Given the description of an element on the screen output the (x, y) to click on. 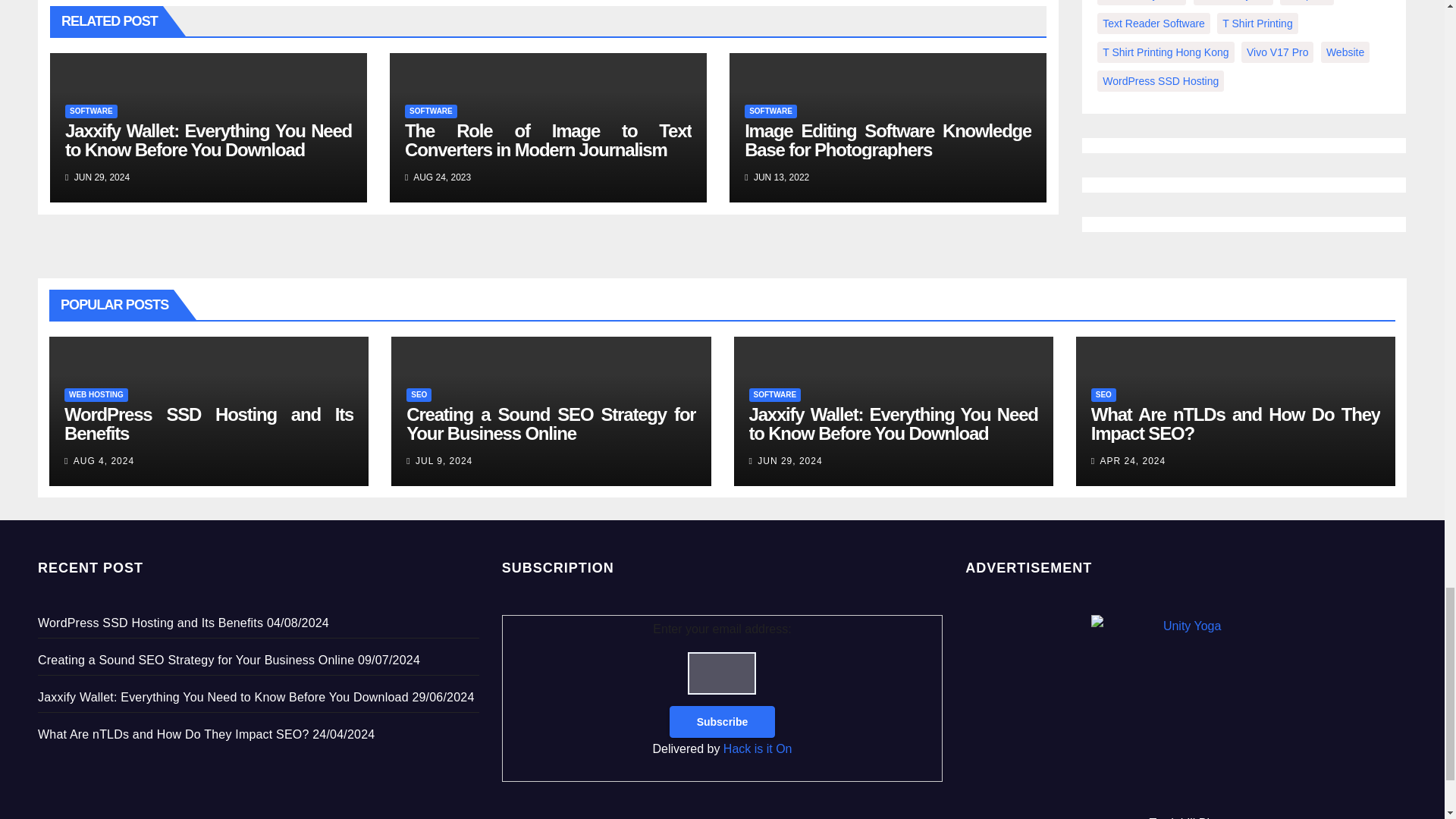
The Role of Image to Text Converters in Modern Journalism (547, 139)
SOFTWARE (430, 110)
Permalink to: WordPress SSD Hosting and Its Benefits (208, 423)
Subscribe (722, 721)
Image Editing Software Knowledge Base for Photographers (887, 139)
SOFTWARE (91, 110)
SOFTWARE (770, 110)
